Given the description of an element on the screen output the (x, y) to click on. 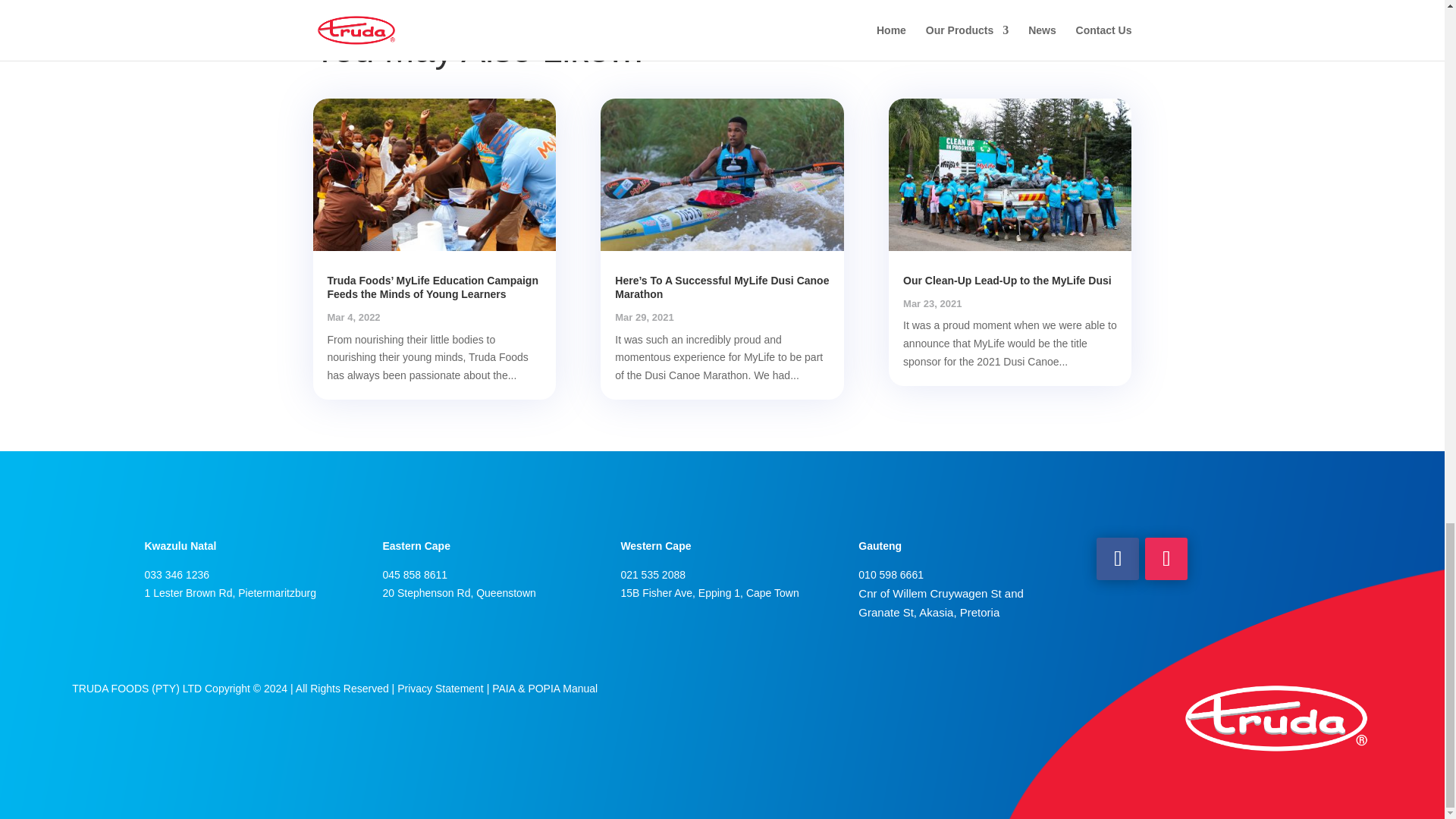
Privacy Statement (440, 688)
privacy (440, 688)
Follow on Instagram (1166, 558)
Our Clean-Up Lead-Up to the MyLife Dusi (1007, 279)
popia (544, 688)
Follow on Facebook (1117, 558)
